Given the description of an element on the screen output the (x, y) to click on. 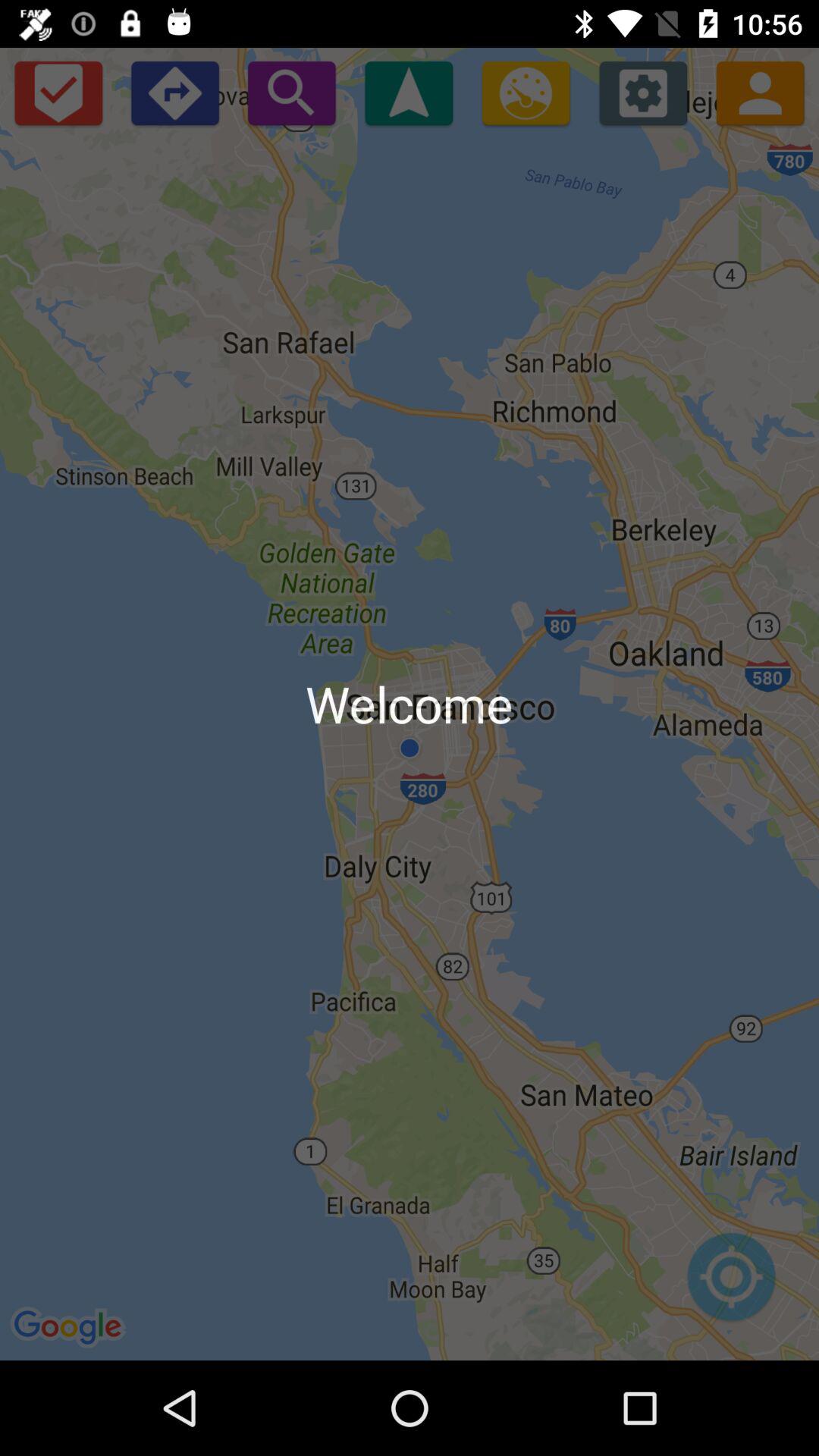
turn by turn directions (174, 92)
